Given the description of an element on the screen output the (x, y) to click on. 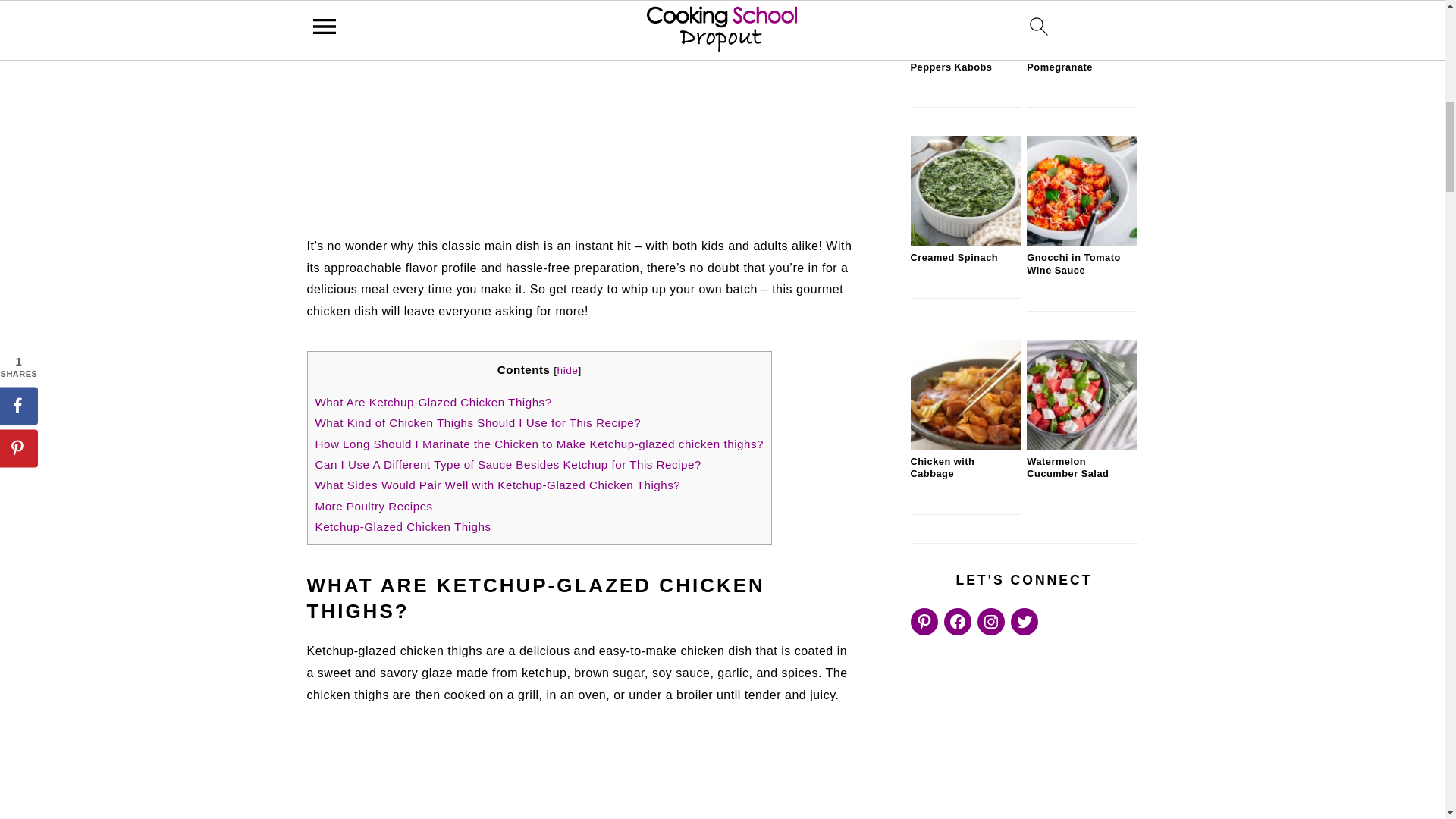
Creamed Spinach (965, 242)
Chicken with Cabbage (965, 446)
Chicken with Pomegranate (1081, 39)
hide (567, 369)
More Poultry Recipes (373, 505)
Ketchup-Glazed Chicken Thighs (403, 526)
Gnocchi in Tomato Wine Sauce (1081, 242)
What Kind of Chicken Thighs Should I Use for This Recipe? (478, 422)
What Are Ketchup-Glazed Chicken Thighs? (433, 401)
